Given the description of an element on the screen output the (x, y) to click on. 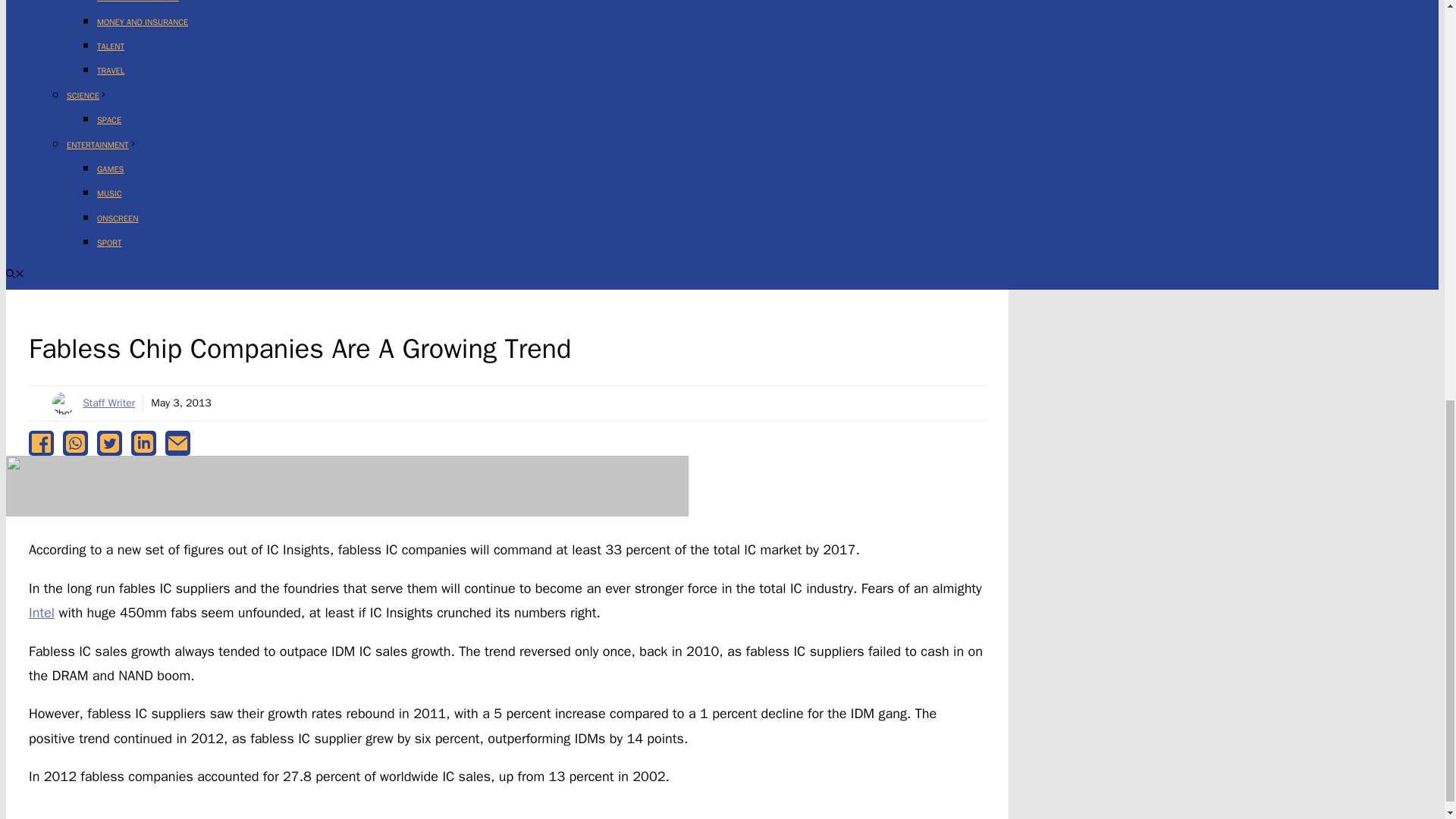
ENTERTAINMENT (101, 144)
SCIENCE (86, 95)
TALENT (110, 45)
GAMES (110, 168)
MONEY AND INSURANCE (142, 21)
TRAVEL (110, 70)
DESIGN AND FASHION (138, 1)
SPACE (108, 119)
MUSIC (109, 193)
